Given the description of an element on the screen output the (x, y) to click on. 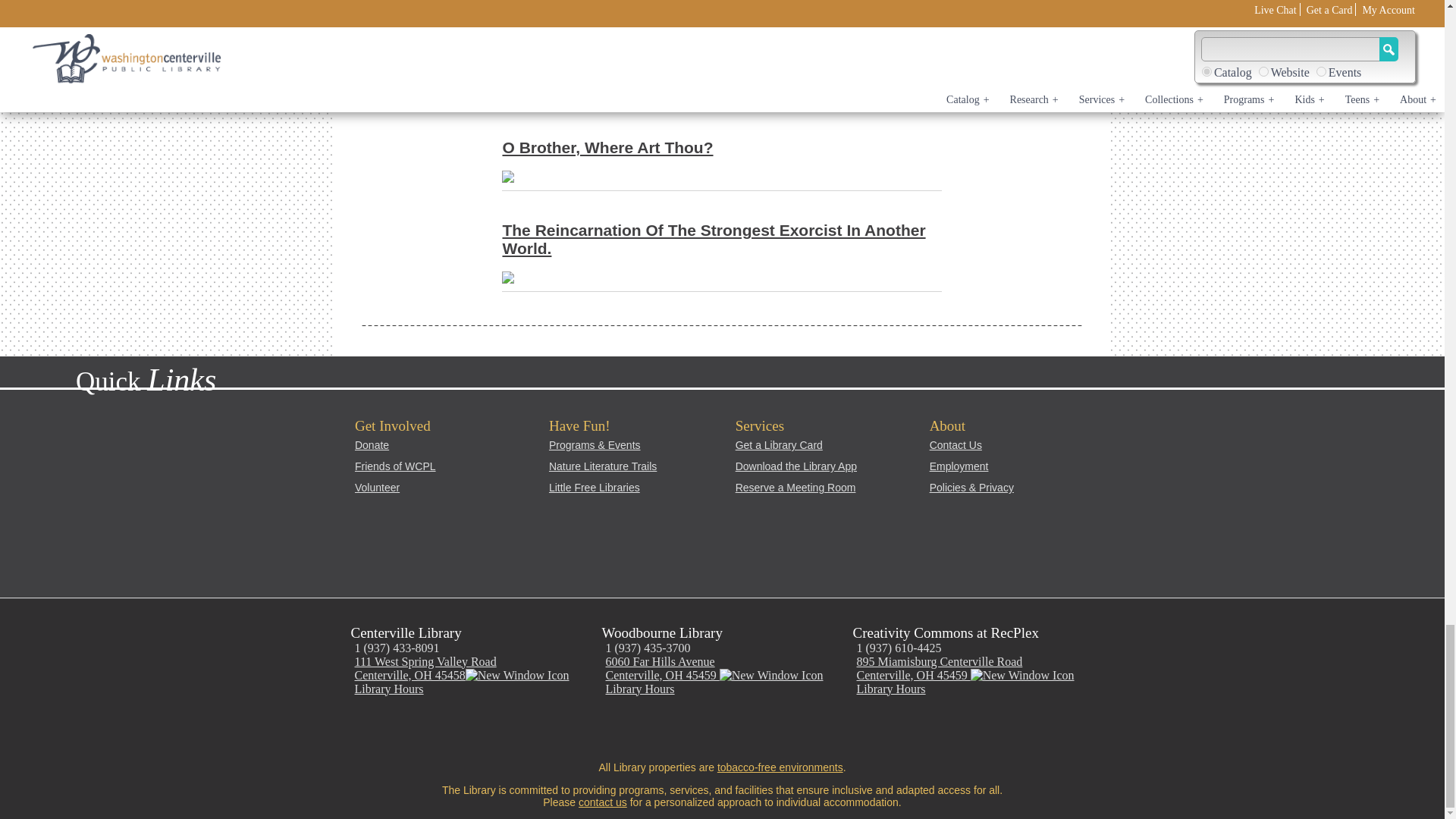
Access RSS Feeds (564, 733)
Opens in a new window. (771, 675)
Opens in a new window. (1022, 675)
Link opens in new window. (496, 733)
Link opens in new window. (359, 733)
Link opens in new window. (461, 733)
Opens in a new window. (517, 675)
Link opens in new window. (392, 733)
Link opens in new window. (529, 733)
Link opens in new window. (427, 733)
